Given the description of an element on the screen output the (x, y) to click on. 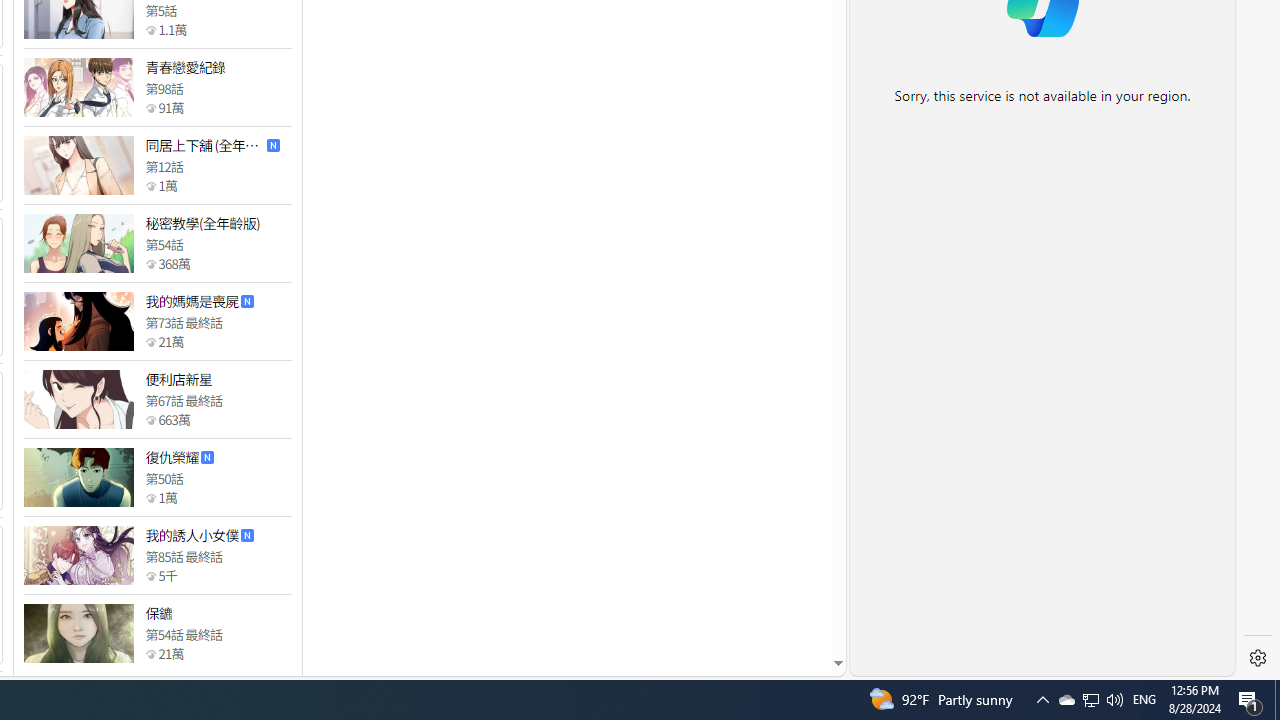
Settings (1258, 658)
